Given the description of an element on the screen output the (x, y) to click on. 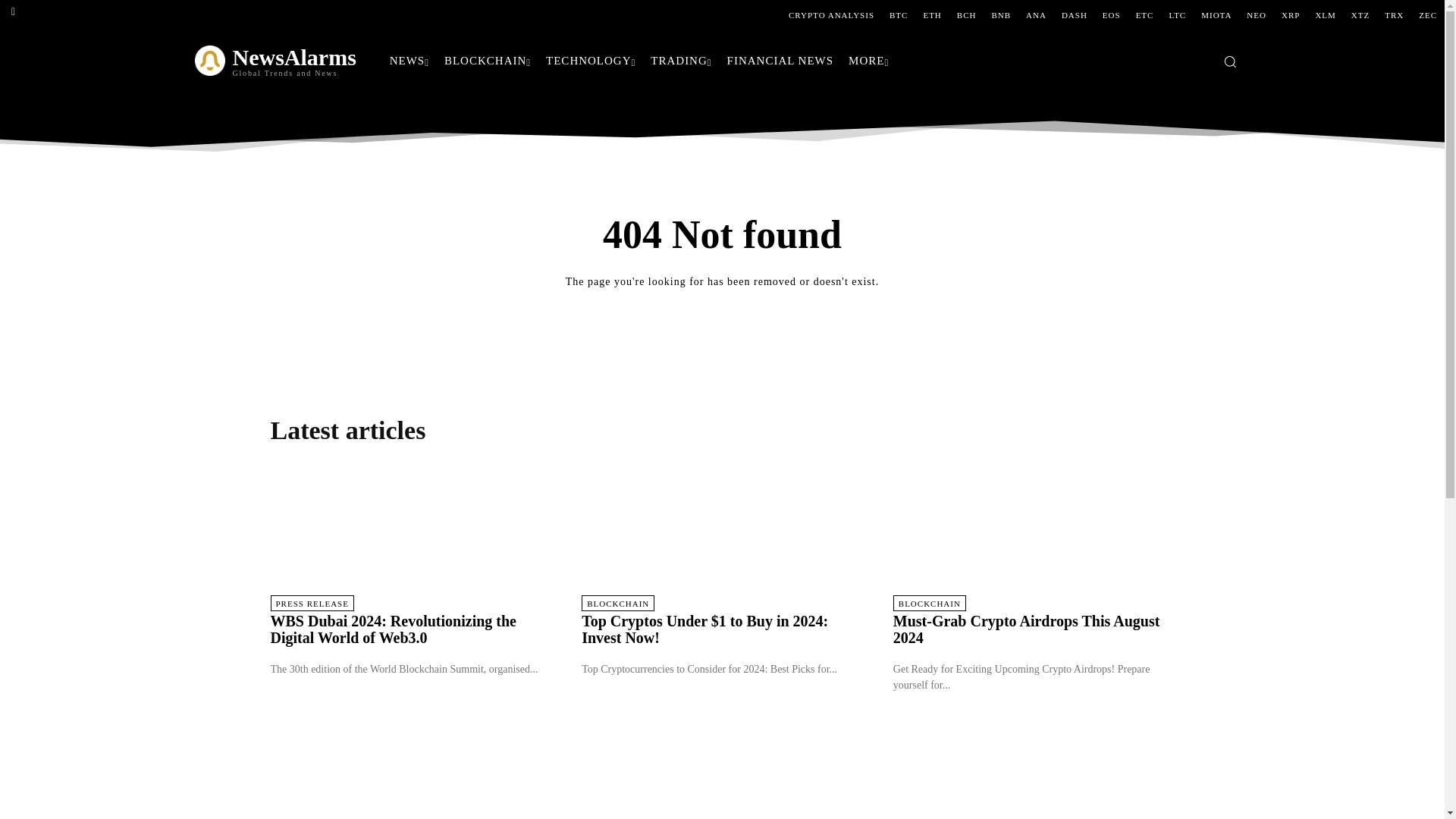
BCH (966, 15)
CRYPTO ANALYSIS (831, 15)
EOS (1111, 15)
ANA (1035, 15)
LTC (1176, 15)
ETC (1144, 15)
Facebook (13, 12)
NEO (1256, 15)
DASH (1074, 15)
BTC (898, 15)
